Given the description of an element on the screen output the (x, y) to click on. 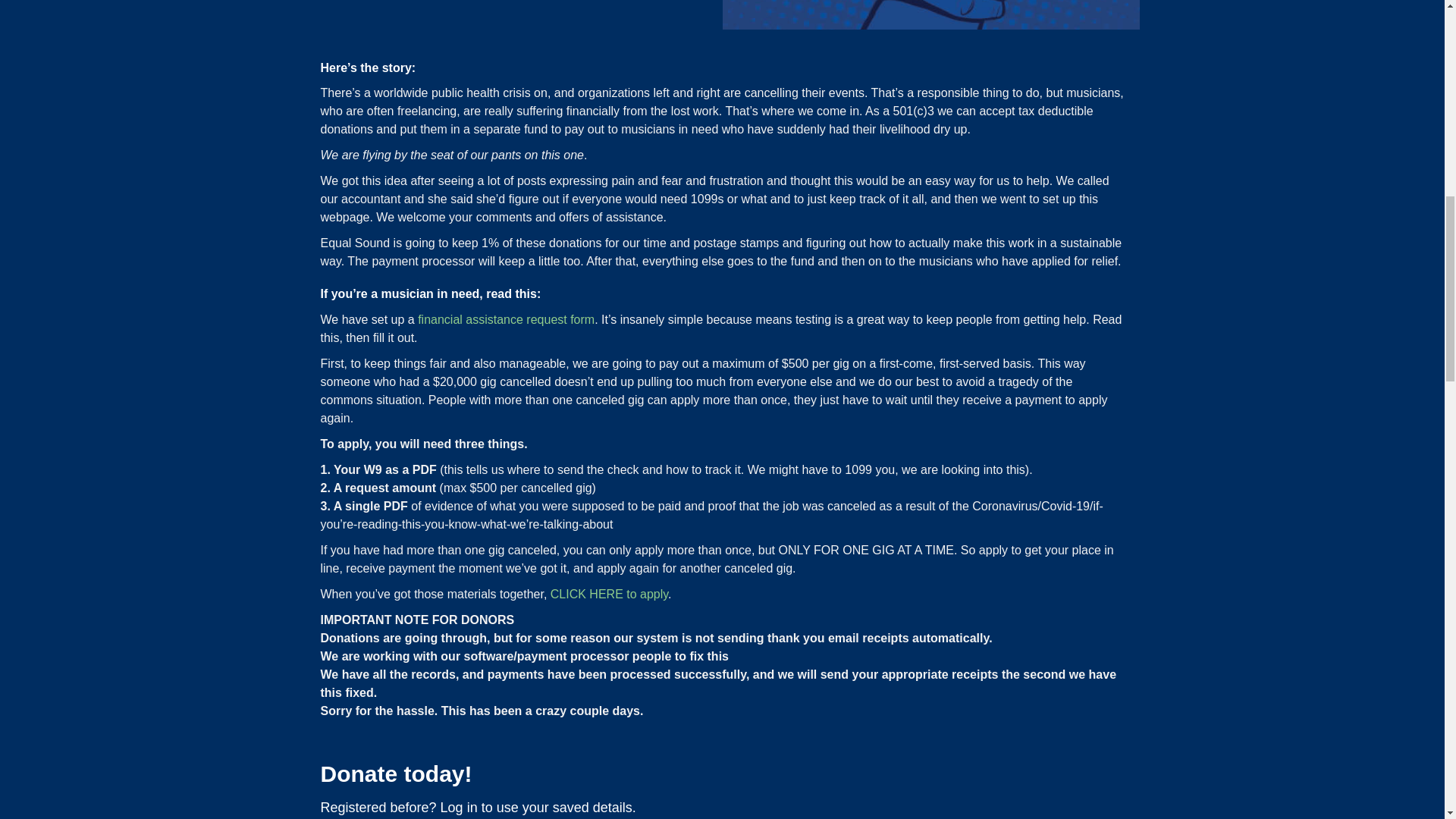
CLICK HERE to apply (609, 594)
CORONA RELIEF (930, 14)
financial assistance request form (505, 318)
Registered before? Log in to use your saved details. (477, 807)
